Given the description of an element on the screen output the (x, y) to click on. 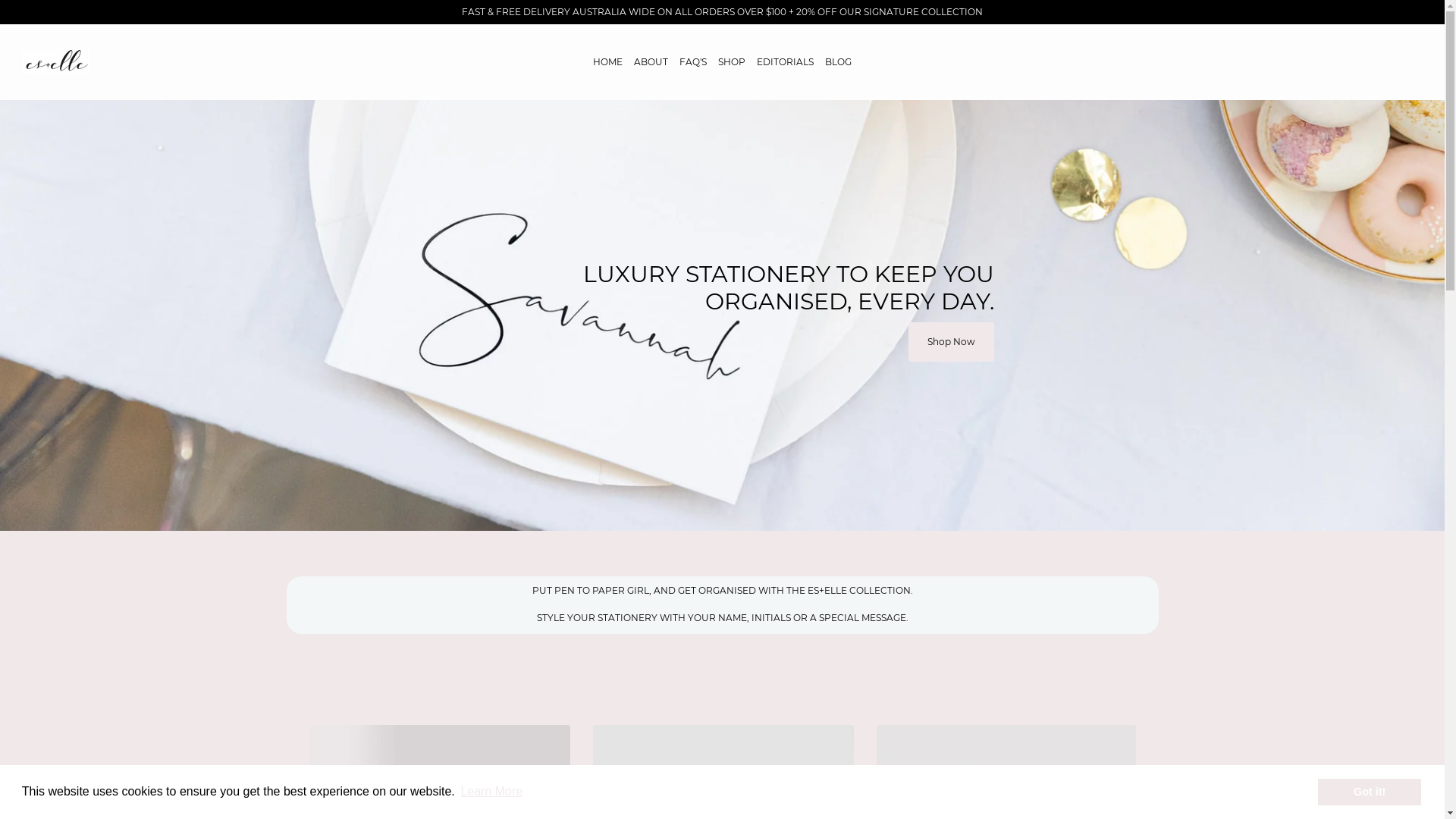
SHOP Element type: text (731, 62)
BLOG Element type: text (838, 62)
HOME Element type: text (607, 62)
Shop Now Element type: text (951, 340)
Cart Element type: text (1416, 60)
Got it! Element type: text (1369, 791)
EDITORIALS Element type: text (785, 62)
ABOUT Element type: text (650, 62)
FAQ'S Element type: text (692, 62)
Learn More Element type: text (491, 791)
Search Element type: text (1407, 60)
